Given the description of an element on the screen output the (x, y) to click on. 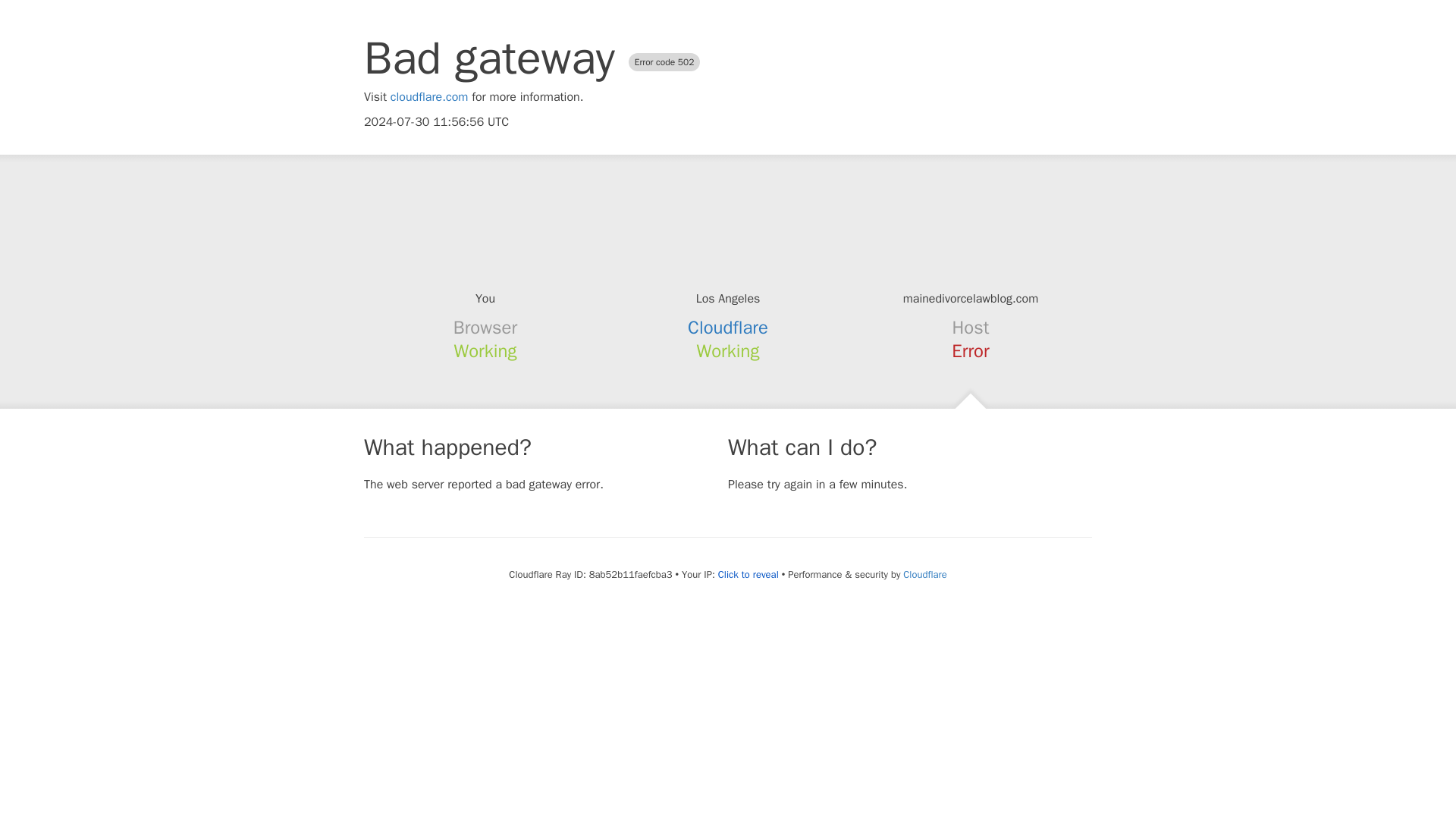
cloudflare.com (429, 96)
Cloudflare (924, 574)
Cloudflare (727, 327)
Click to reveal (747, 574)
